Given the description of an element on the screen output the (x, y) to click on. 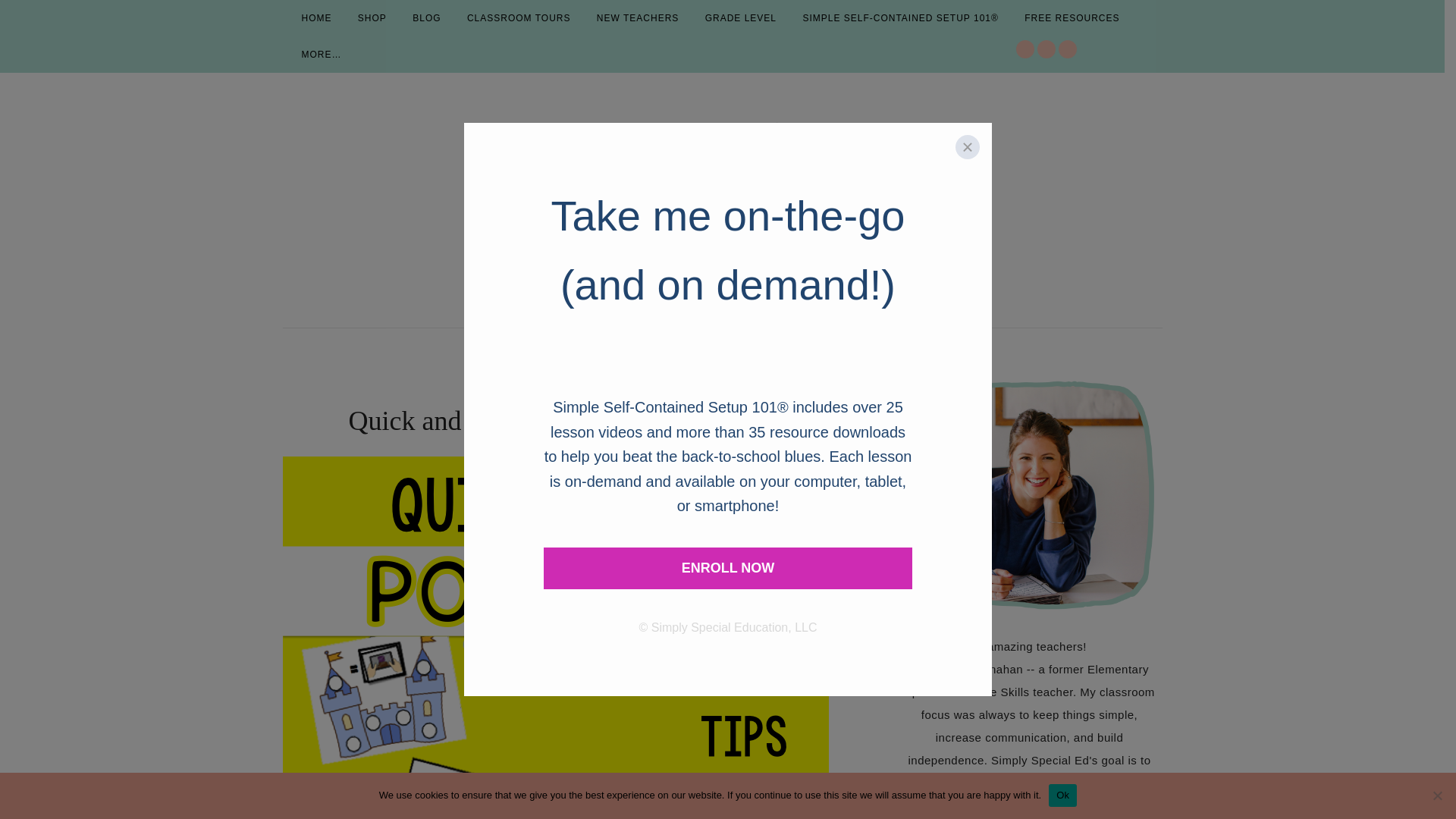
No (1436, 795)
HOME (315, 18)
BLOG (426, 18)
SHOP (371, 18)
